Given the description of an element on the screen output the (x, y) to click on. 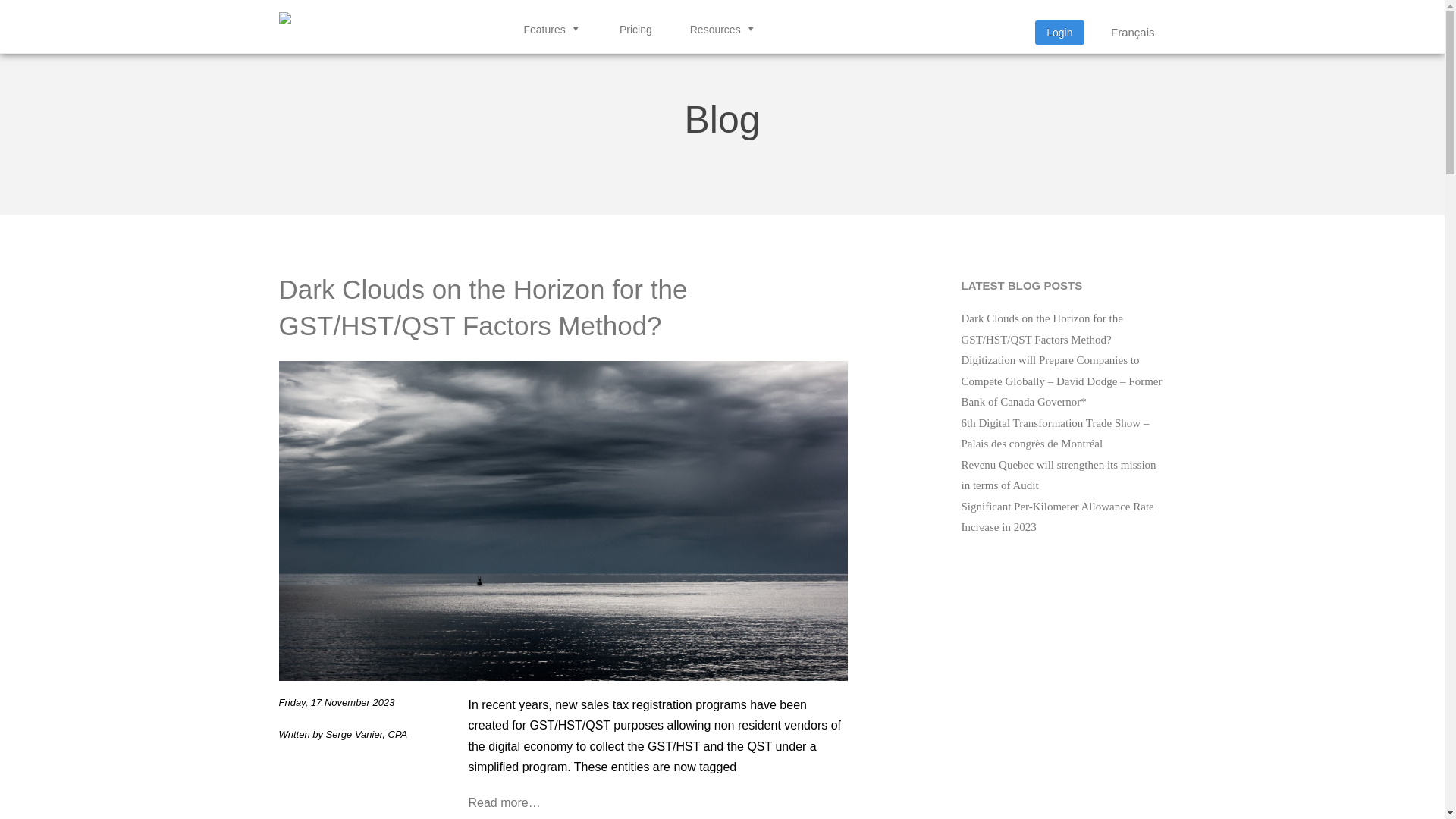
Features Element type: text (555, 29)
Pricing Element type: text (639, 29)
Login Element type: text (1059, 32)
Resources Element type: text (726, 29)
Revenu Quebec will strengthen its mission in terms of Audit Element type: text (1058, 474)
Significant Per-Kilometer Allowance Rate Increase in 2023 Element type: text (1057, 516)
